Given the description of an element on the screen output the (x, y) to click on. 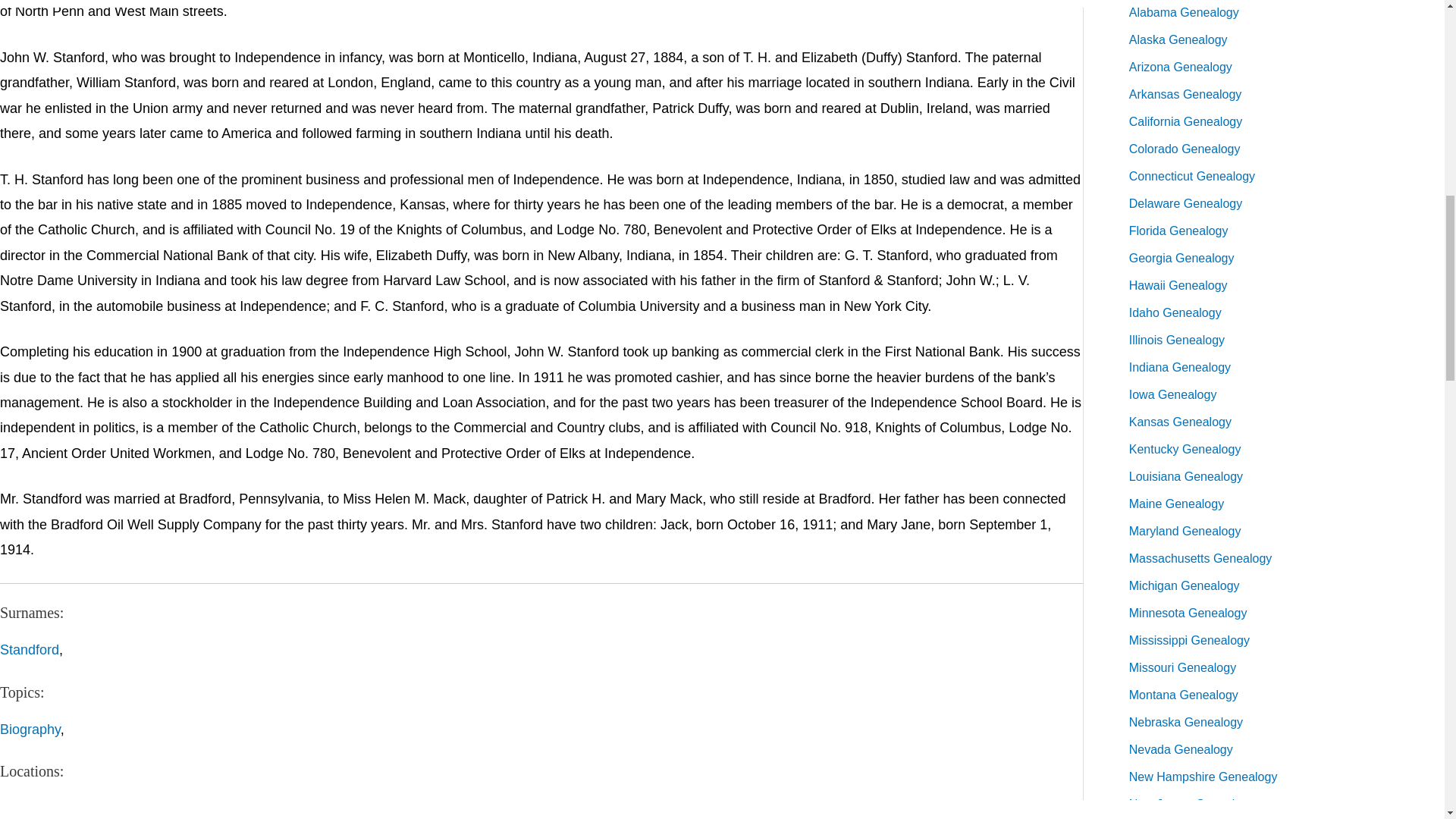
Connecticut Genealogy (1192, 175)
Delaware Genealogy (1185, 203)
Monticello Indiana (350, 807)
Florida Genealogy (1178, 230)
Alabama Genealogy (1184, 11)
Alaska Genealogy (1178, 39)
Arkansas Genealogy (1185, 93)
Alaska Genealogy (1178, 39)
Arizona Genealogy (1180, 66)
Montgomery County KS (215, 807)
